Given the description of an element on the screen output the (x, y) to click on. 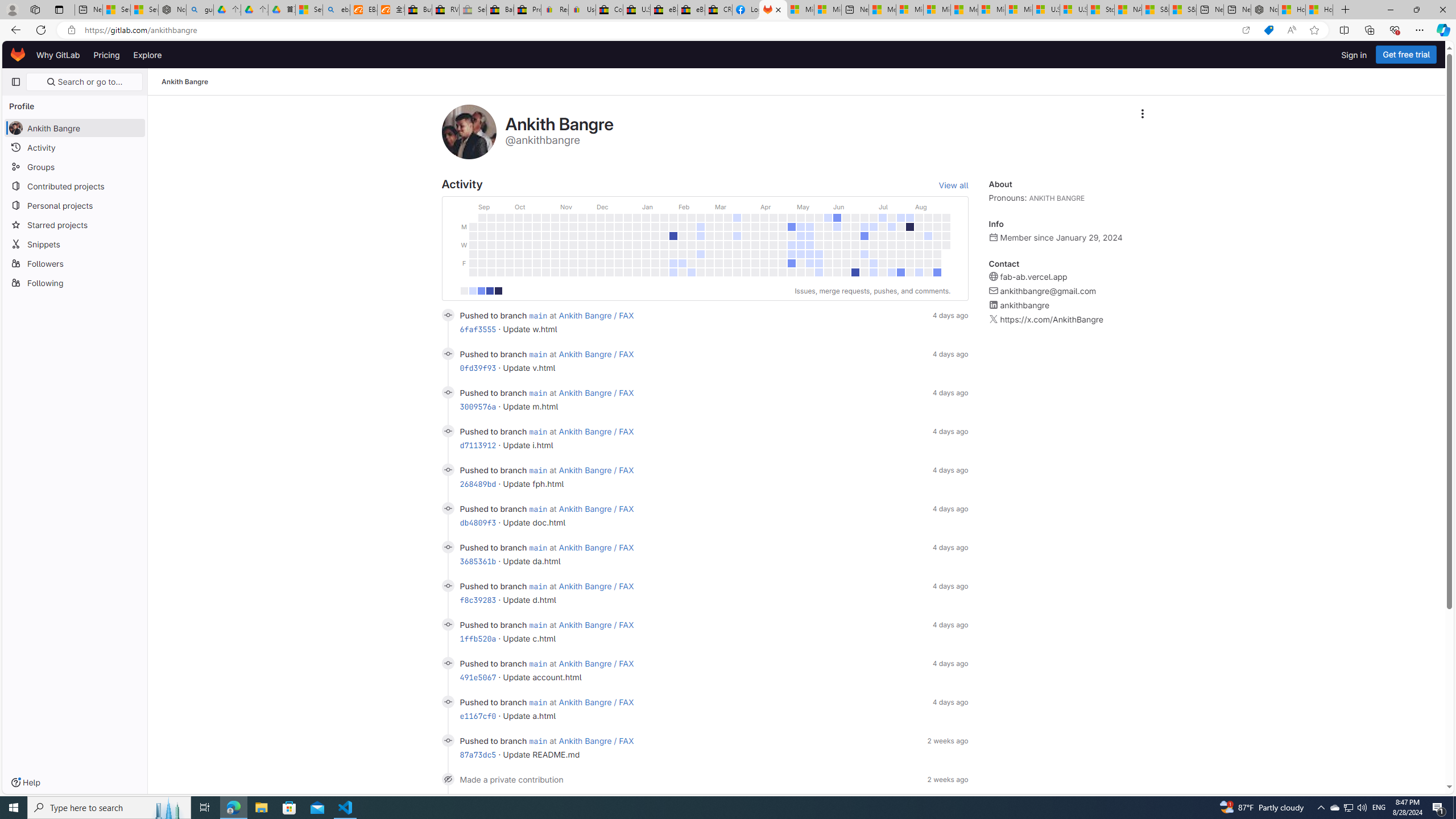
d7113912 (478, 445)
https://x.com/AnkithBangre (1051, 319)
